Given the description of an element on the screen output the (x, y) to click on. 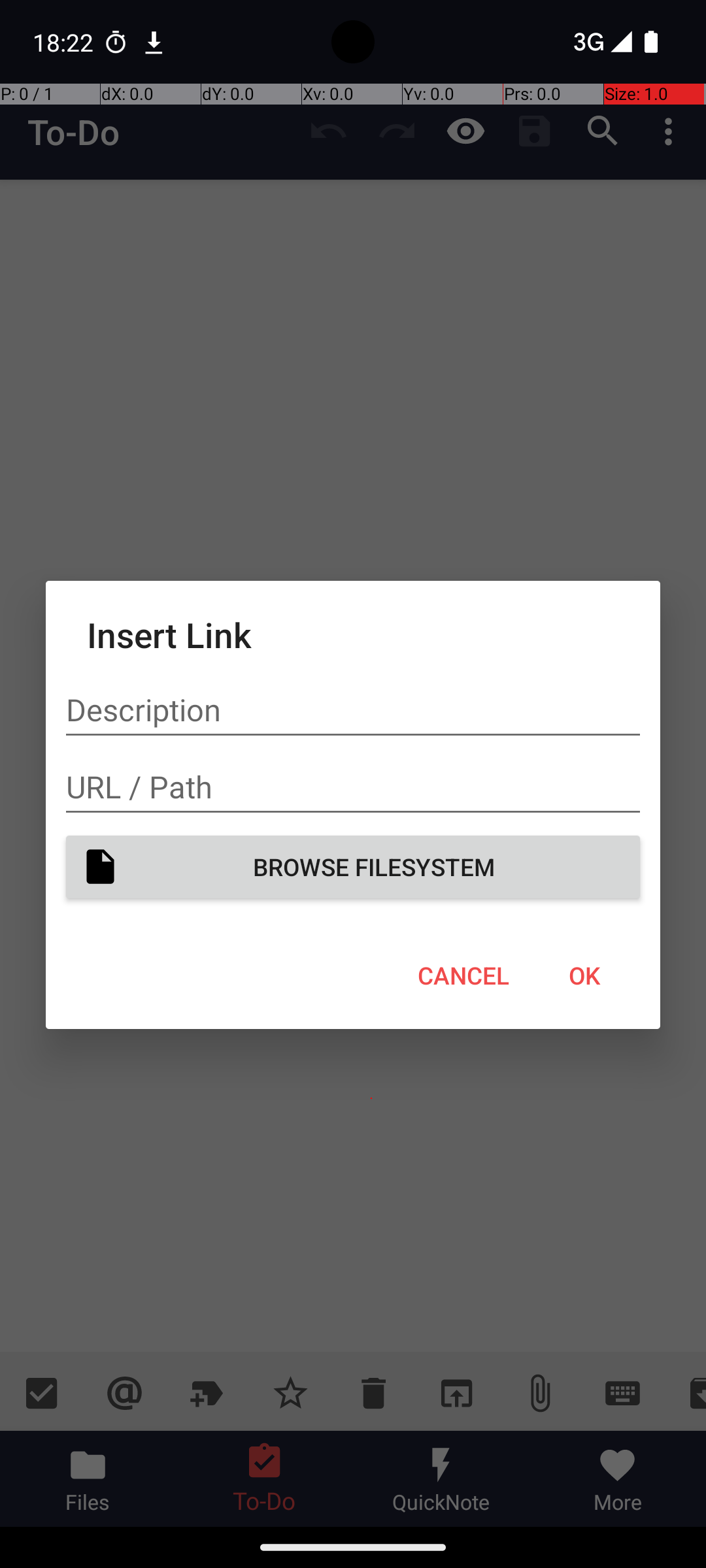
URL / Path Element type: android.widget.EditText (352, 786)
BROWSE FILESYSTEM Element type: android.widget.Button (352, 866)
18:22 Element type: android.widget.TextView (64, 41)
